Given the description of an element on the screen output the (x, y) to click on. 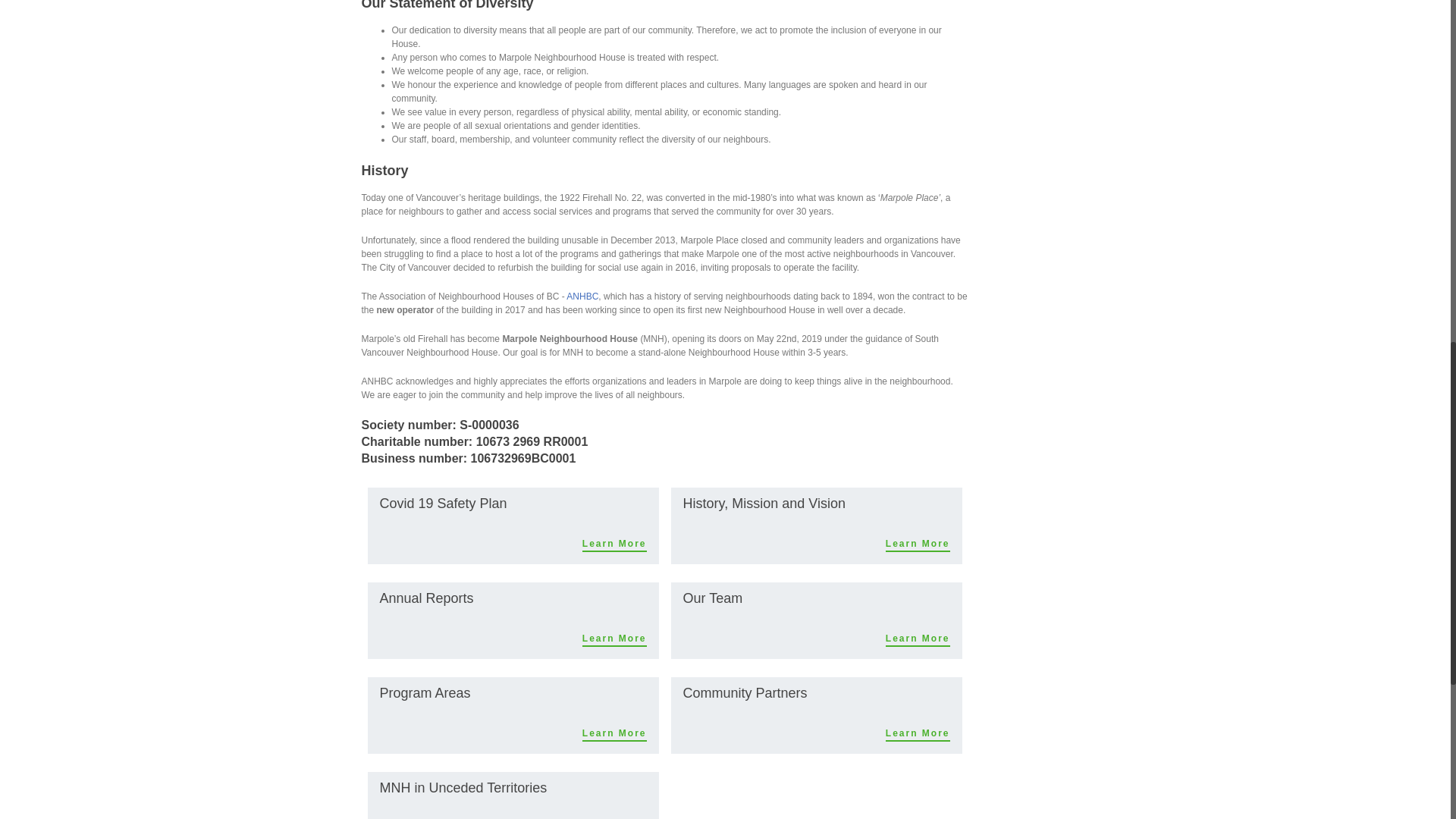
Our Team (712, 598)
Learn More (614, 734)
Community Partners (744, 693)
Learn More (917, 639)
History, Mission and Vision (763, 503)
Covid 19 Safety Plan (442, 503)
Learn More (614, 544)
Learn More (917, 734)
Annual Reports (425, 598)
Learn More (917, 544)
Learn More (614, 639)
Program Areas (424, 693)
